Given the description of an element on the screen output the (x, y) to click on. 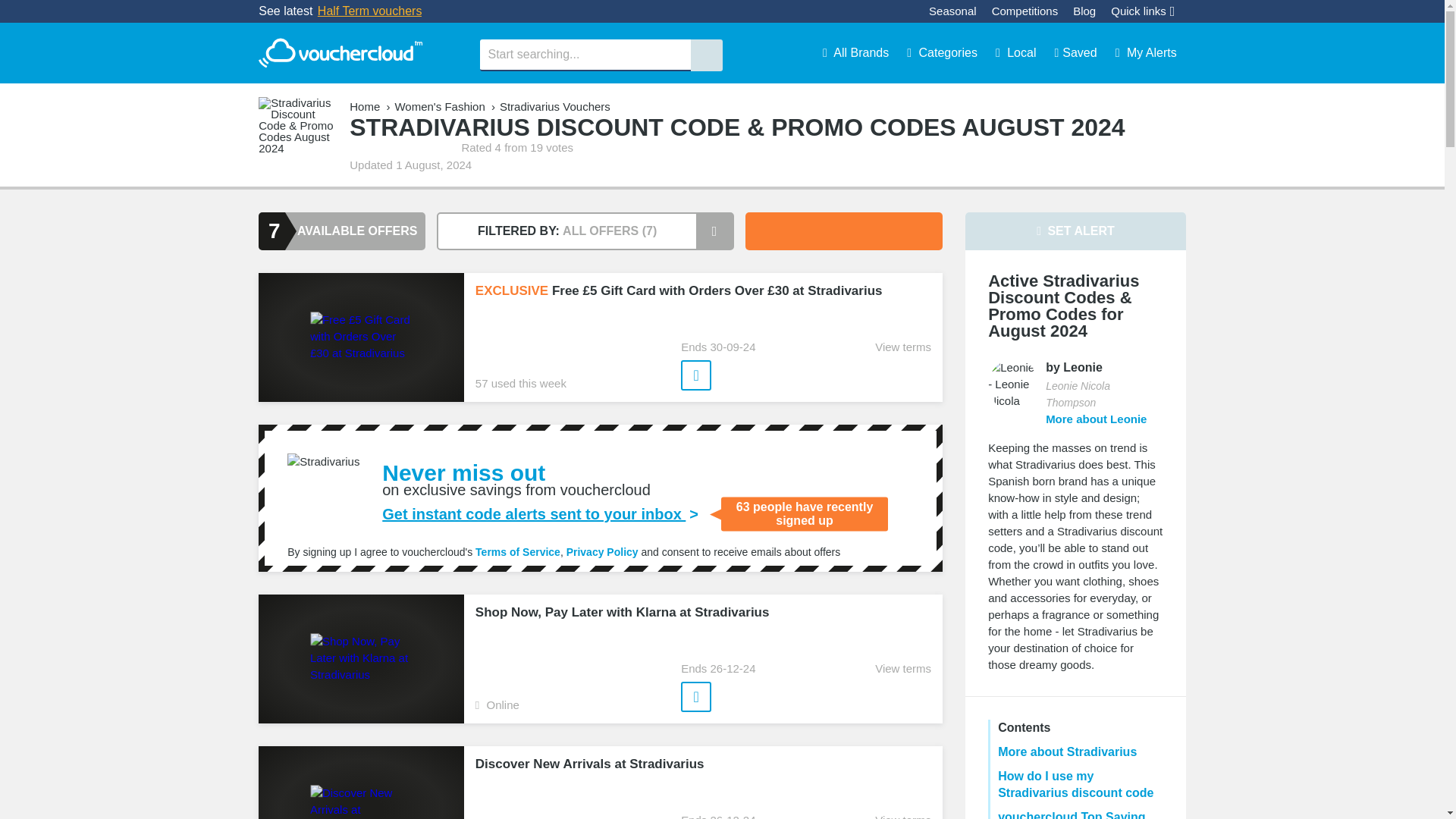
vouchercloud (340, 52)
SEARCH (706, 55)
